Given the description of an element on the screen output the (x, y) to click on. 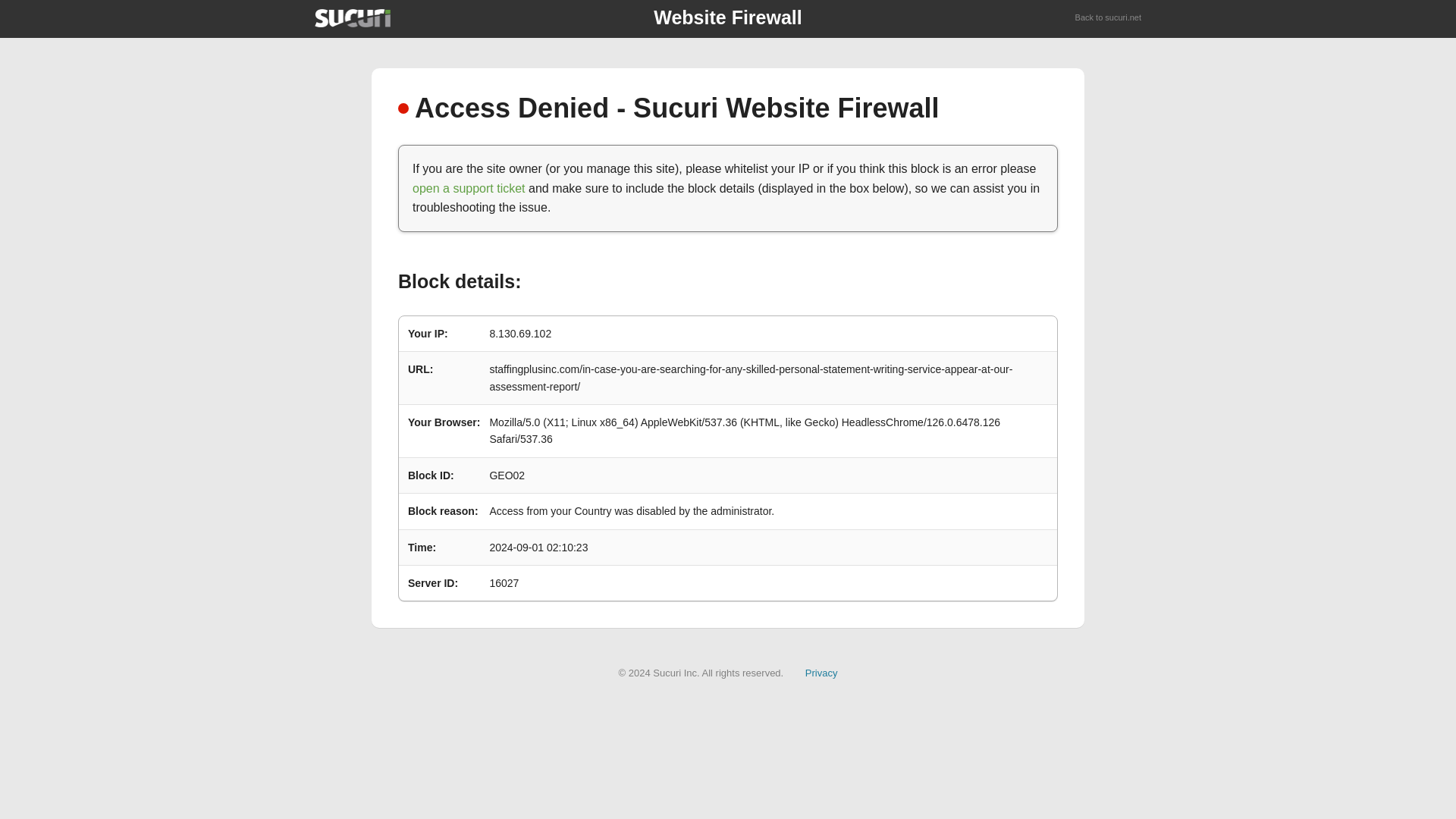
open a support ticket (468, 187)
Back to sucuri.net (1108, 18)
Privacy (821, 672)
